Given the description of an element on the screen output the (x, y) to click on. 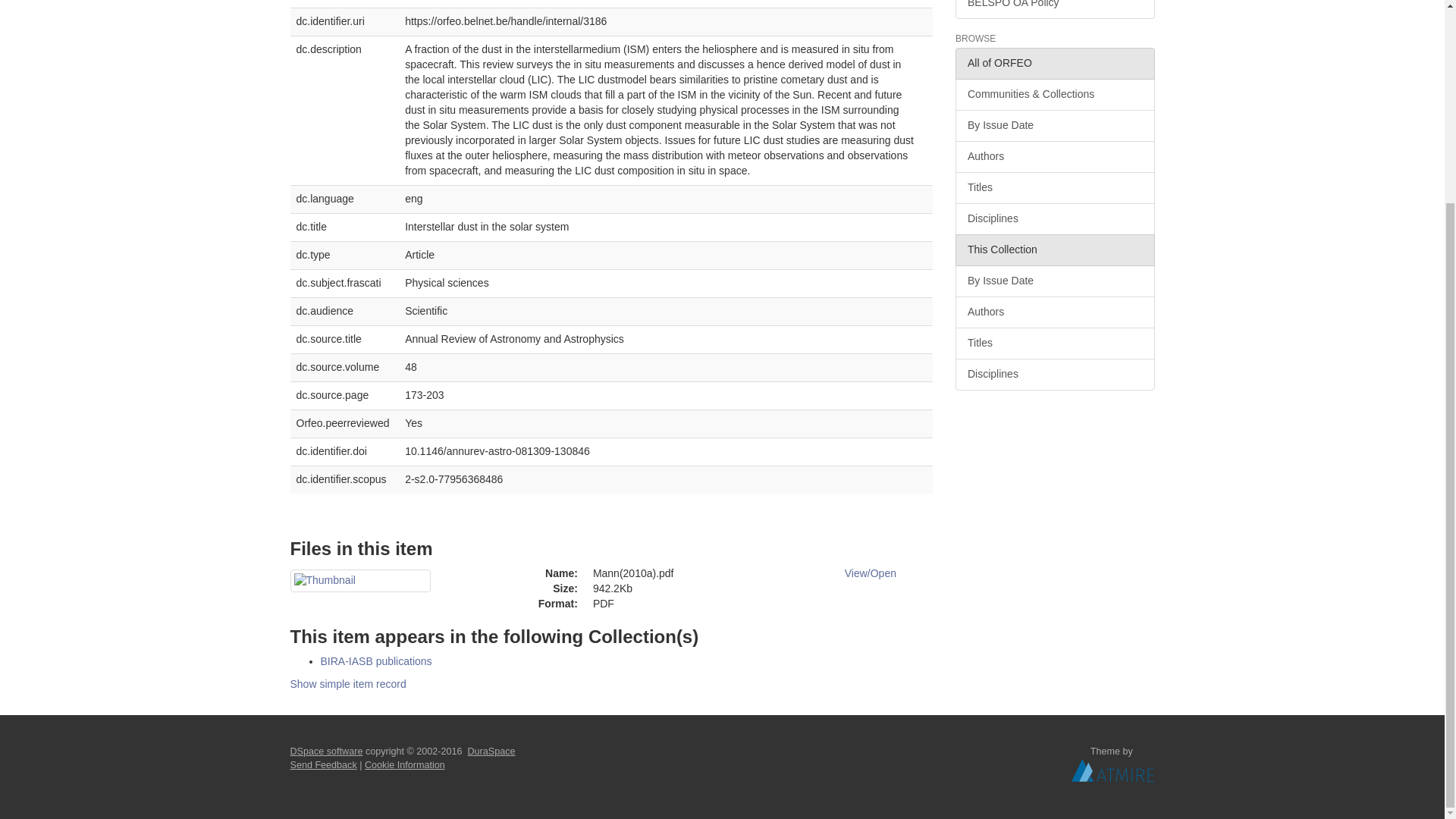
All of ORFEO (1054, 63)
Cookie Information (405, 765)
Disciplines (1054, 374)
By Issue Date (1054, 281)
Send Feedback (322, 765)
BIRA-IASB publications (375, 661)
Titles (1054, 343)
Disciplines (1054, 219)
BELSPO OA Policy (1054, 9)
Titles (1054, 187)
DuraSpace (491, 751)
Atmire NV (1112, 769)
DSpace software (325, 751)
Show simple item record (347, 684)
Authors (1054, 312)
